Given the description of an element on the screen output the (x, y) to click on. 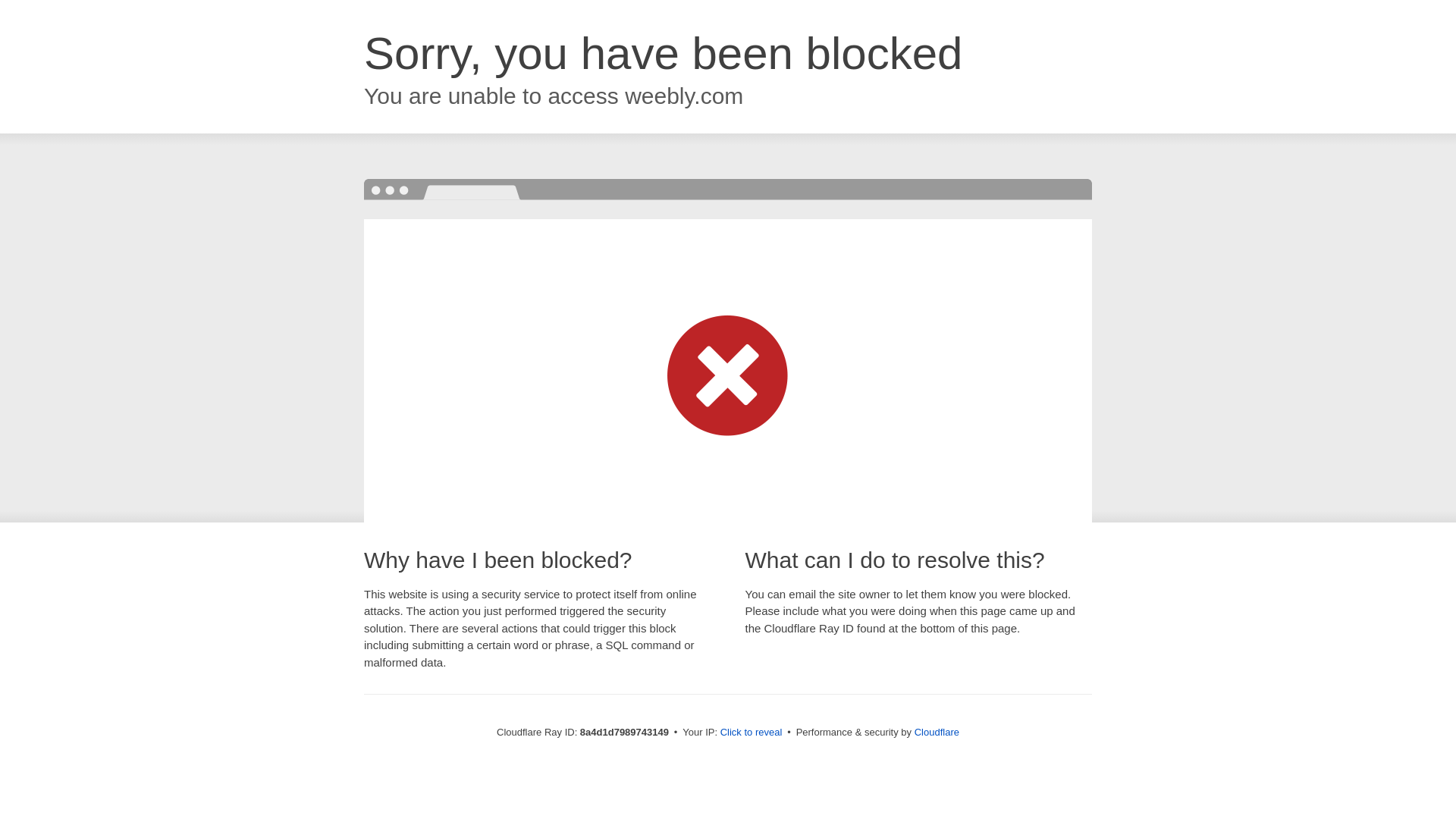
Click to reveal (751, 732)
Cloudflare (936, 731)
